Given the description of an element on the screen output the (x, y) to click on. 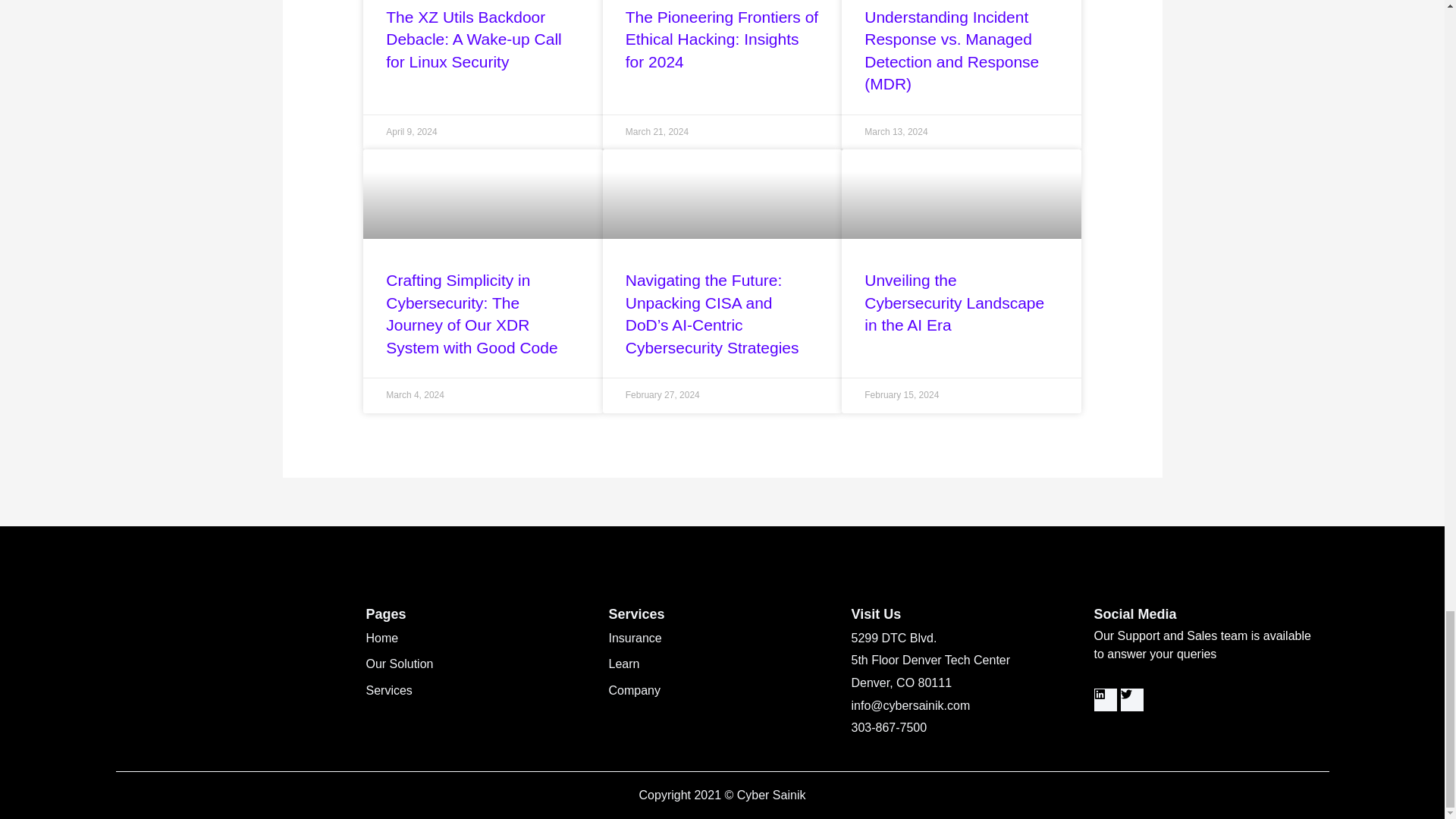
Services (478, 690)
Home (478, 638)
Our Solution (478, 663)
Insurance (721, 638)
Unveiling the Cybersecurity Landscape in the AI Era (953, 302)
Learn (721, 663)
Company (721, 690)
5299 DTC Blvd. (964, 638)
